Given the description of an element on the screen output the (x, y) to click on. 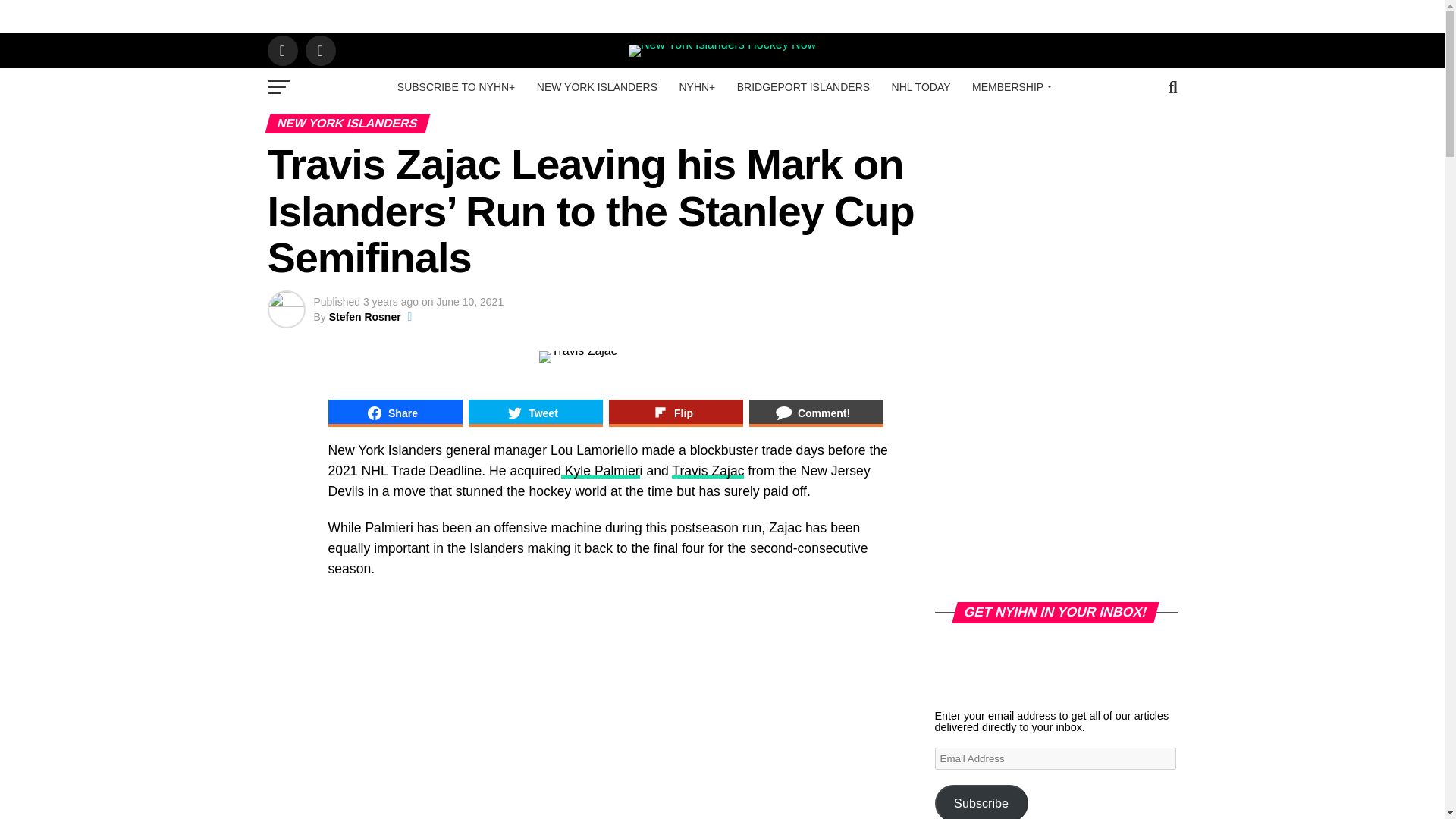
NHL TODAY (920, 86)
Share on Share (394, 412)
Posts by Stefen Rosner (365, 316)
Share on Tweet (535, 412)
Share on Flip (675, 412)
BRIDGEPORT ISLANDERS (803, 86)
Share on Comment! (816, 412)
NEW YORK ISLANDERS (596, 86)
